Given the description of an element on the screen output the (x, y) to click on. 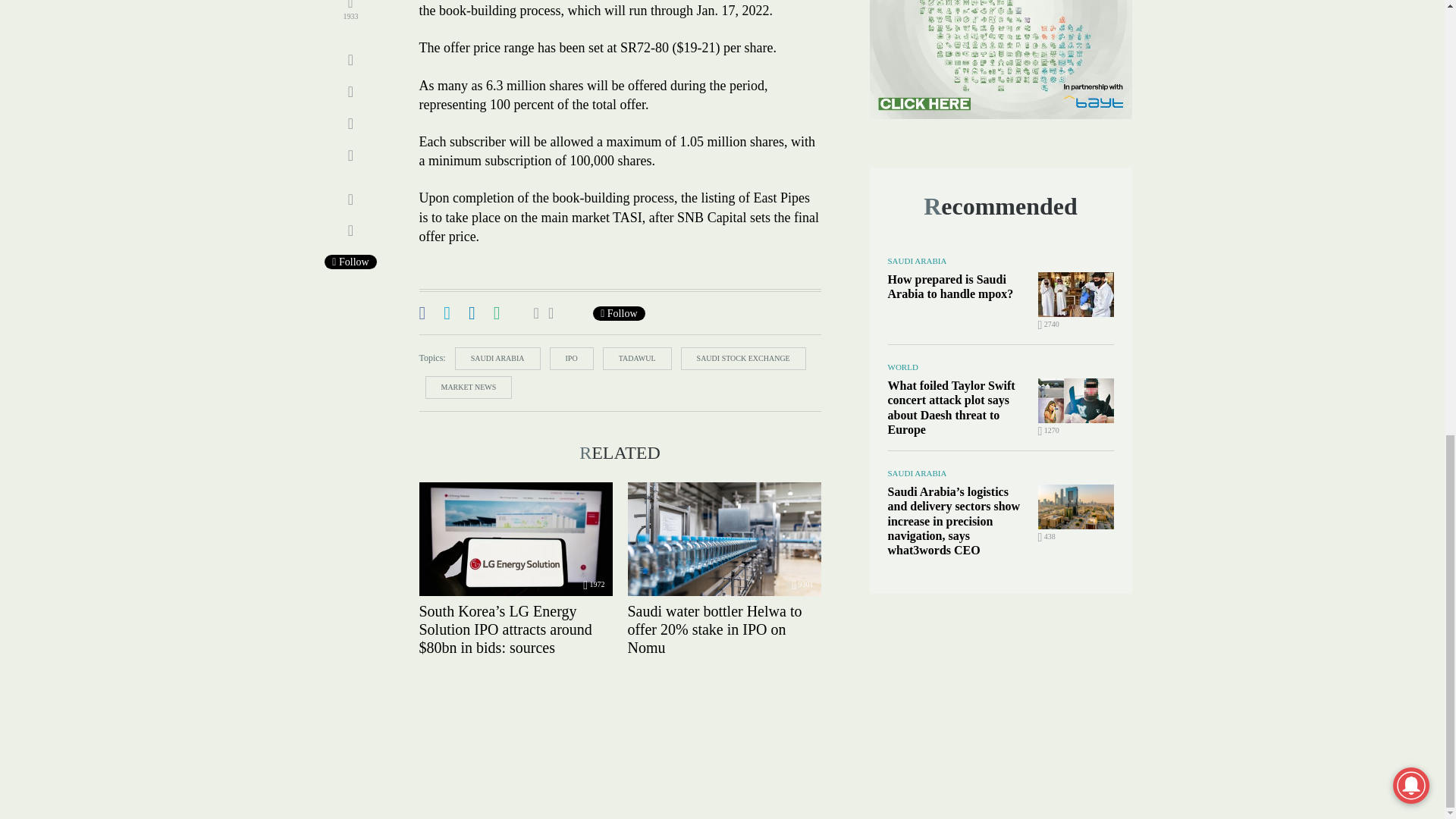
How prepared is Saudi Arabia to handle mpox? (1074, 293)
Image: Shutterstock (515, 539)
